Given the description of an element on the screen output the (x, y) to click on. 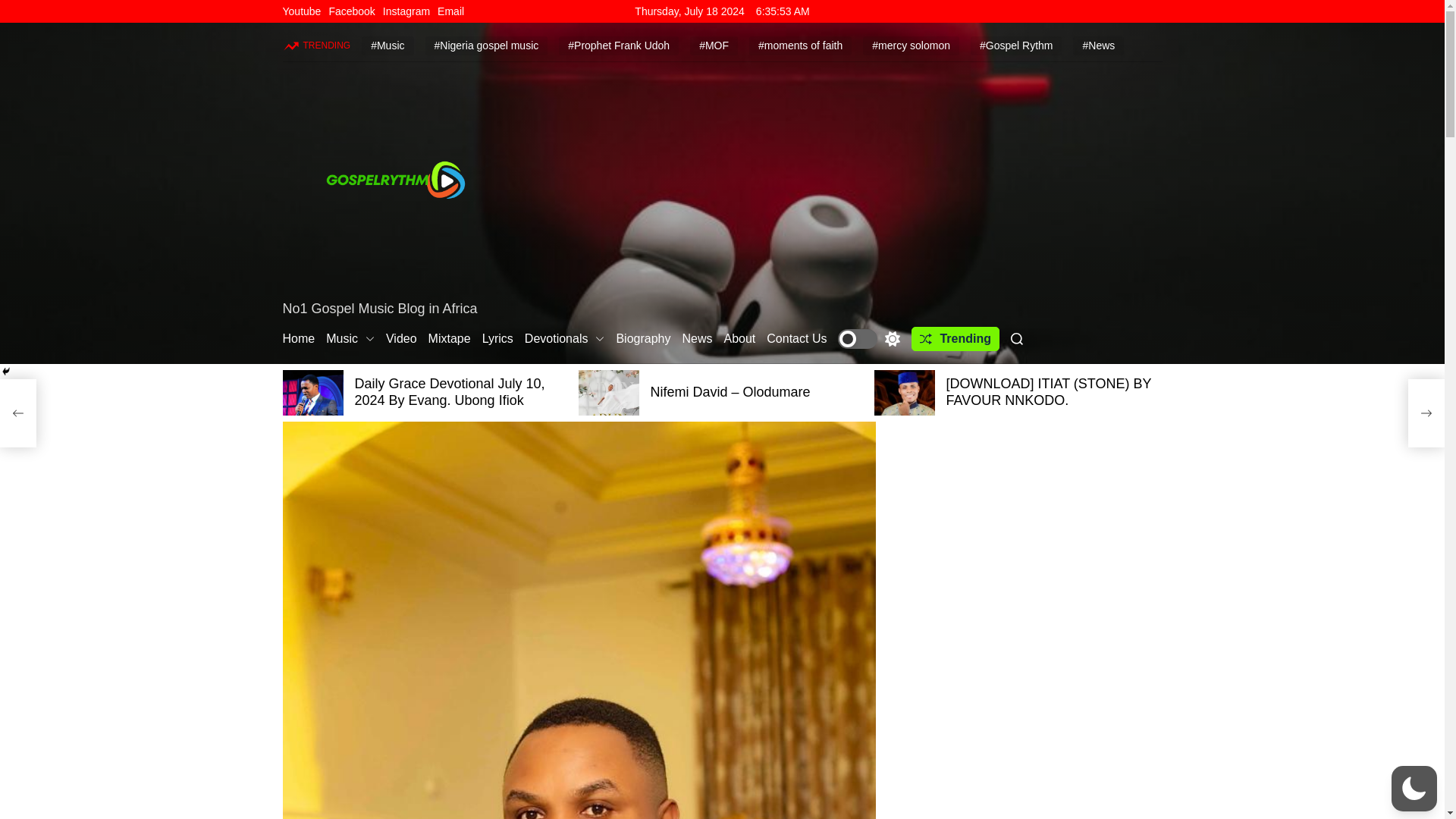
Lyrics (497, 338)
Facebook (15, 99)
Video (400, 338)
Music (350, 338)
Instagram (405, 10)
Youtube (301, 10)
X (15, 129)
About (739, 338)
Mixtape (449, 338)
Email (451, 10)
Biography (642, 338)
Home (298, 338)
News (696, 338)
Facebook (351, 10)
Devotionals (564, 338)
